Given the description of an element on the screen output the (x, y) to click on. 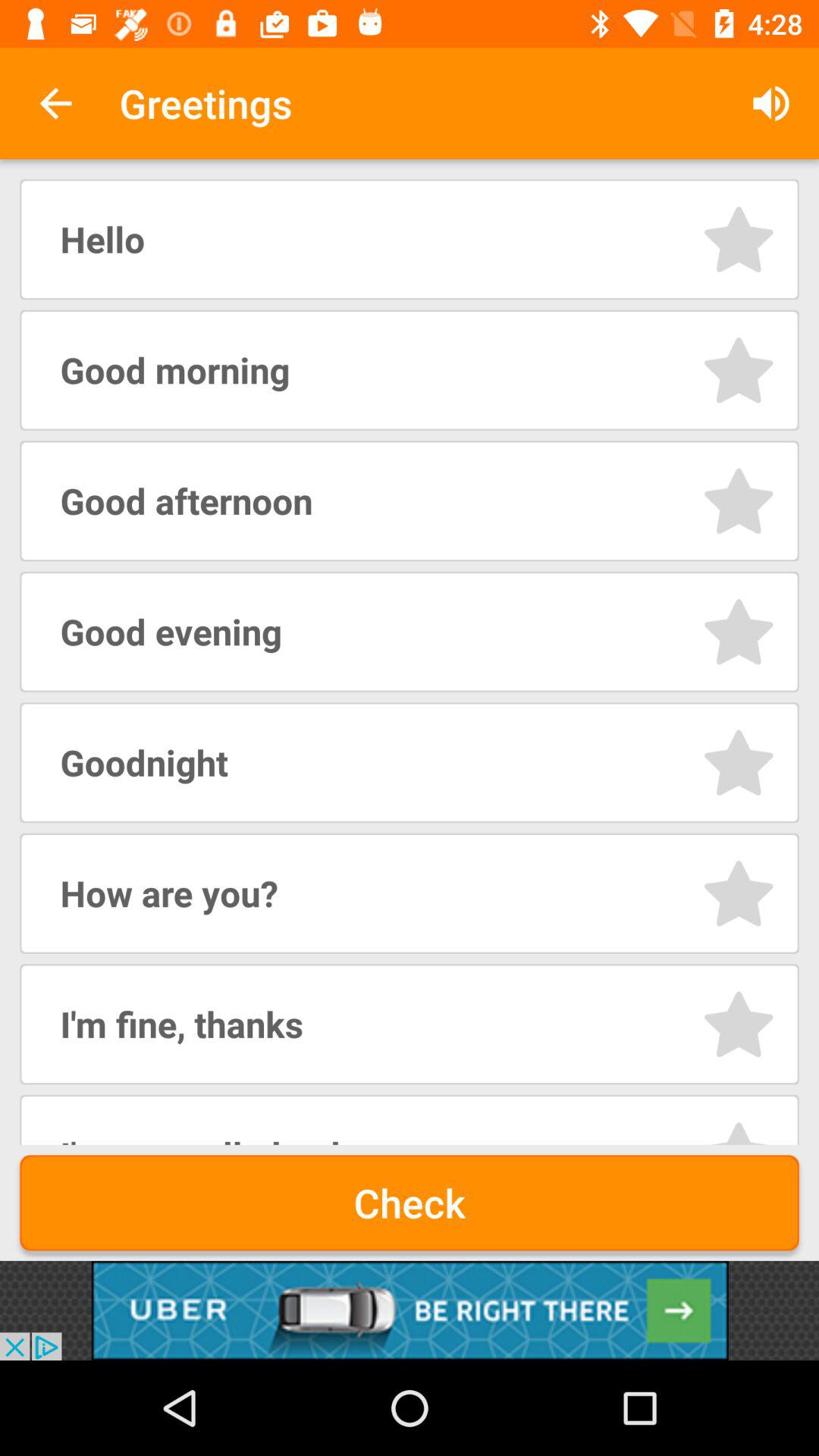
go to rating (738, 1024)
